Given the description of an element on the screen output the (x, y) to click on. 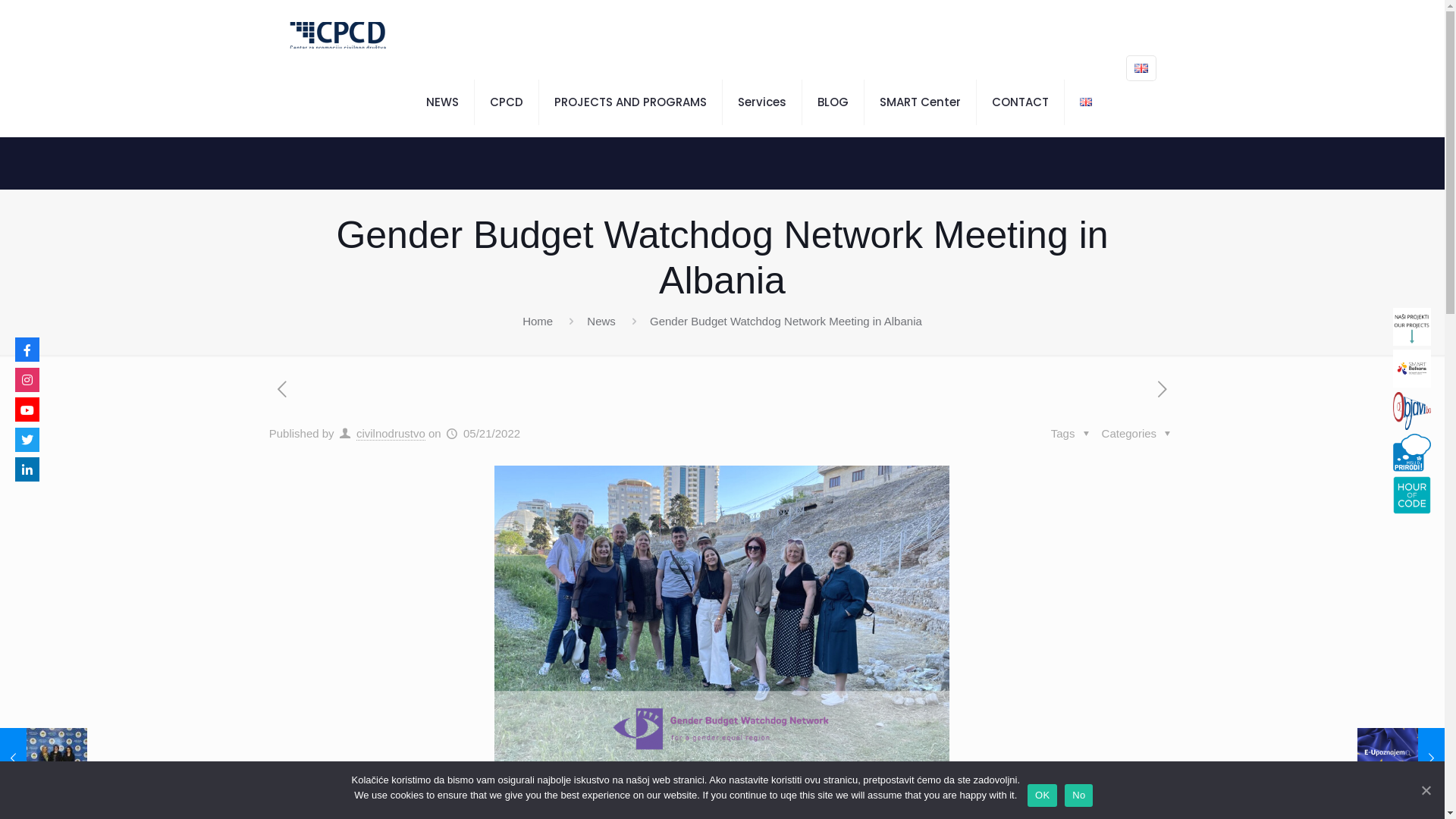
Services Element type: text (762, 102)
OK Element type: text (1042, 795)
Twitter Element type: hover (27, 439)
CPCD Element type: text (506, 102)
CONTACT Element type: text (1020, 102)
LinkedIn Element type: hover (27, 469)
PROJECTS AND PROGRAMS Element type: text (630, 102)
BLOG Element type: text (833, 102)
No Element type: text (1078, 795)
SMART Center Element type: text (920, 102)
NEWS Element type: text (442, 102)
Instagram Element type: hover (27, 379)
Youtube Element type: hover (27, 409)
News Element type: text (600, 320)
Facebook Element type: hover (27, 349)
civilnodrustvo Element type: text (390, 433)
Home Element type: text (537, 320)
